Given the description of an element on the screen output the (x, y) to click on. 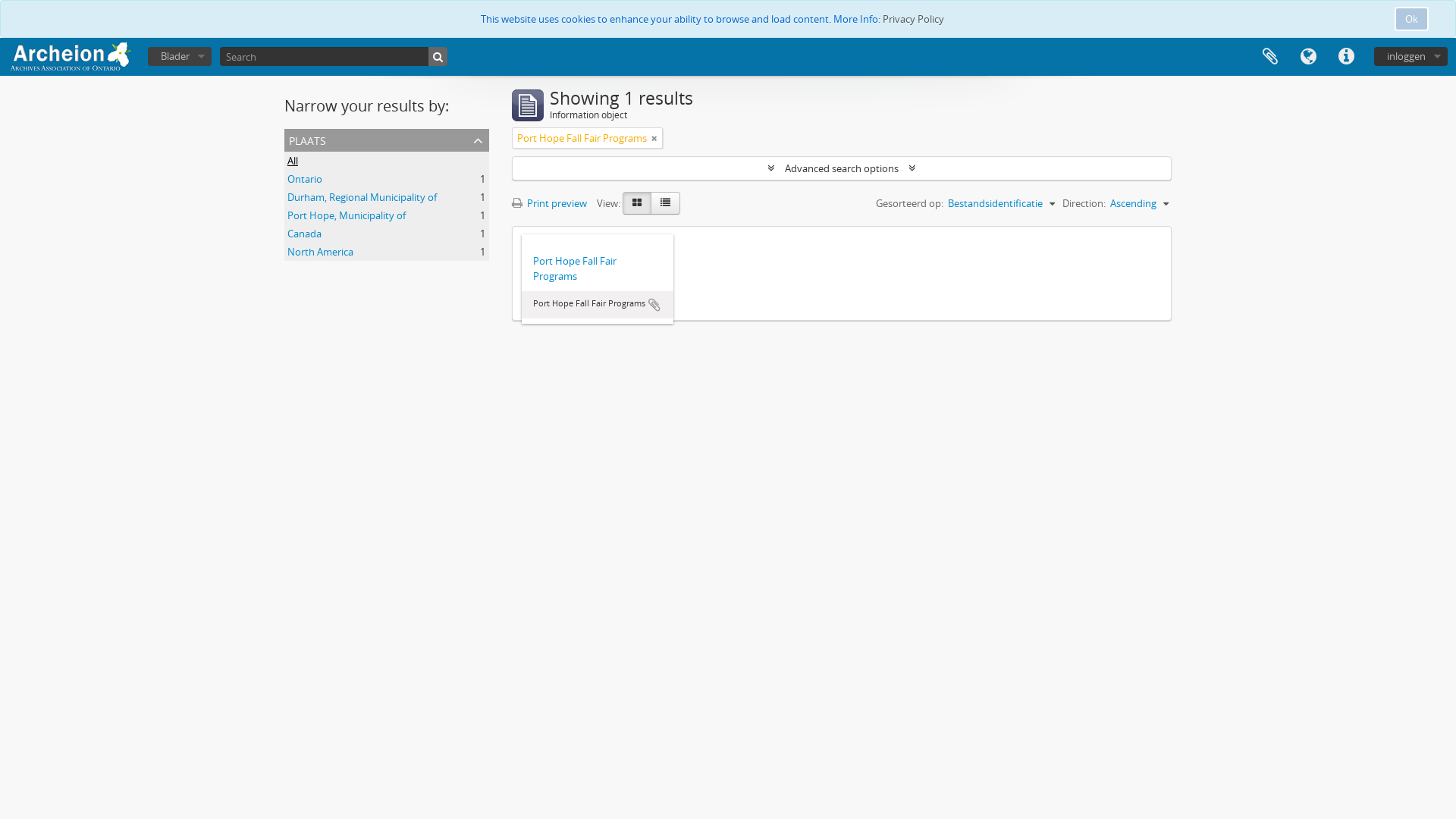
inloggen Element type: text (1410, 56)
Advanced search options Element type: text (841, 167)
Privacy Policy Element type: text (913, 18)
Add to clipboard Element type: text (654, 304)
Durham, Regional Municipality of Element type: text (361, 196)
  Element type: hover (636, 202)
Ontario Element type: text (304, 178)
Port Hope Fall Fair Programs Element type: text (597, 268)
Clipboard Element type: text (1270, 56)
Canada Element type: text (304, 233)
Taal Element type: text (1308, 56)
Port Hope, Municipality of Element type: text (346, 215)
Print preview Element type: text (552, 203)
North America Element type: text (320, 251)
All Element type: text (292, 160)
plaats Element type: text (386, 139)
Quick links Element type: text (1346, 56)
  Element type: hover (665, 202)
Ok Element type: text (1411, 18)
Blader Element type: text (179, 56)
